Given the description of an element on the screen output the (x, y) to click on. 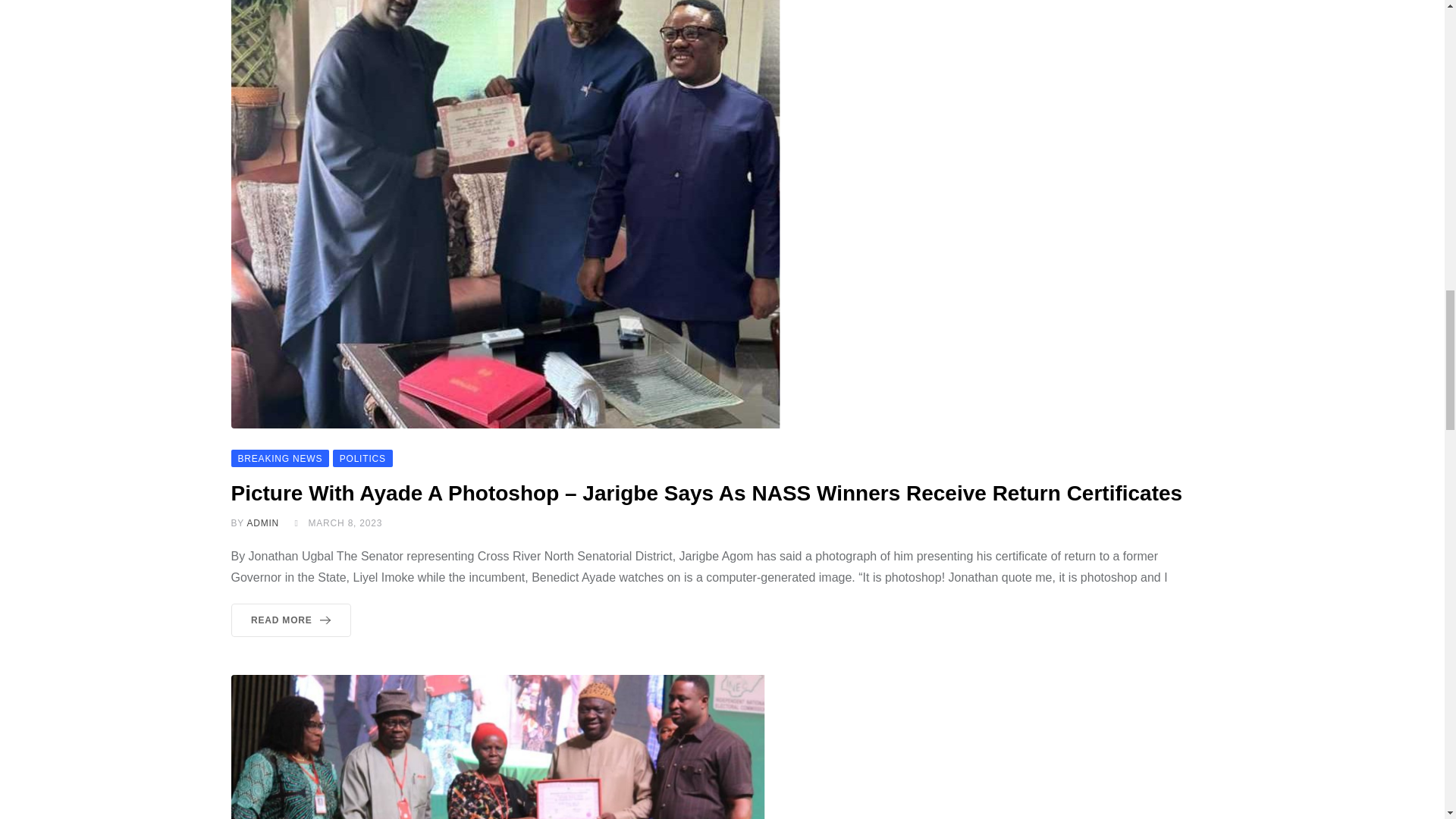
Posts by Admin (262, 522)
POLITICS (363, 457)
BREAKING NEWS (279, 457)
READ MORE (290, 620)
ADMIN (262, 522)
